Given the description of an element on the screen output the (x, y) to click on. 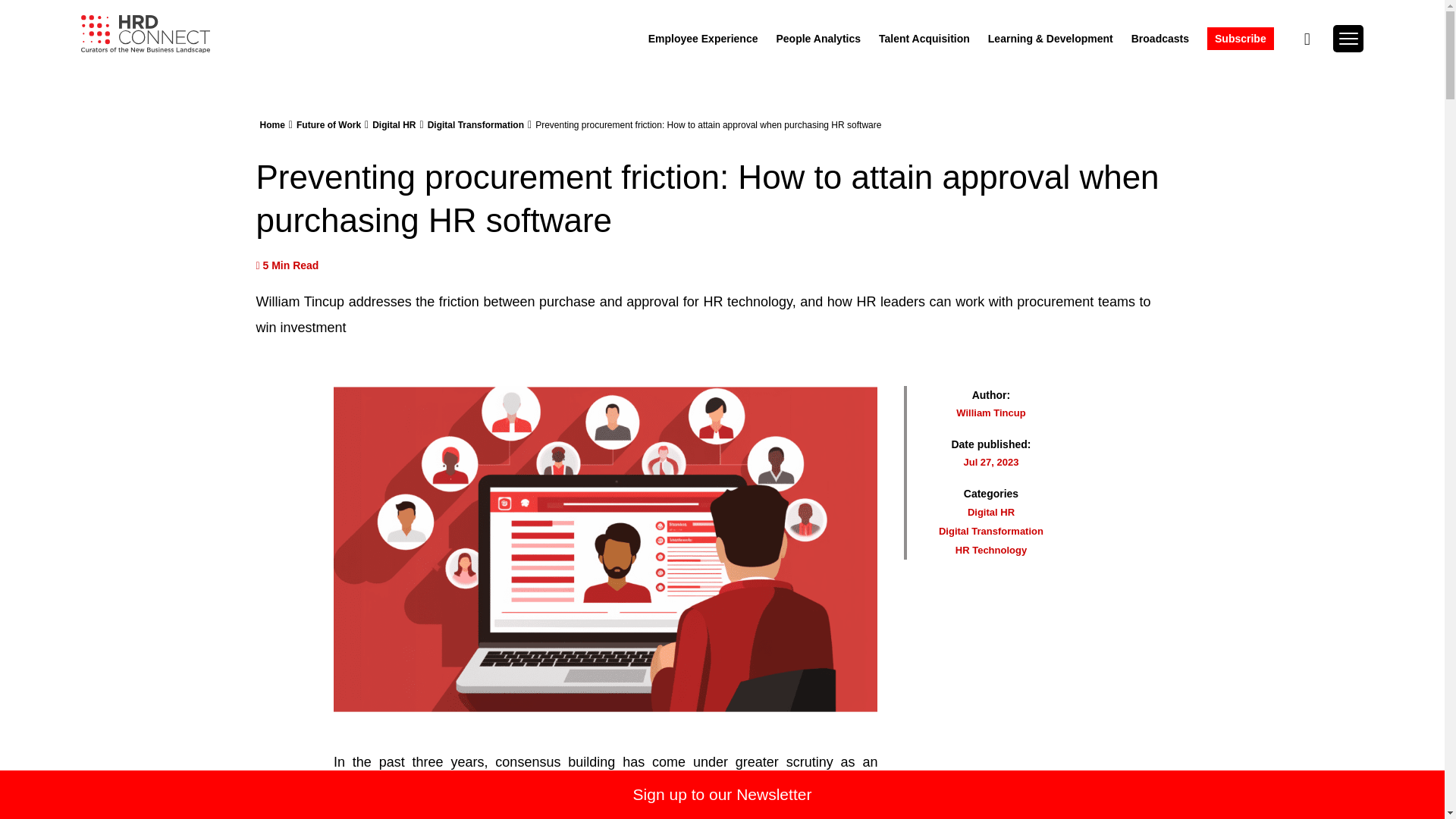
People Analytics (818, 37)
Employee Experience (702, 37)
People Analytics (818, 37)
Broadcasts (1160, 37)
Subscribe (1240, 38)
Search (1337, 81)
Talent Acquisition (924, 37)
Subscribe (1240, 38)
Talent Acquisition (924, 37)
HRD (145, 34)
Employee Experience (702, 37)
Broadcasts (1160, 37)
